Given the description of an element on the screen output the (x, y) to click on. 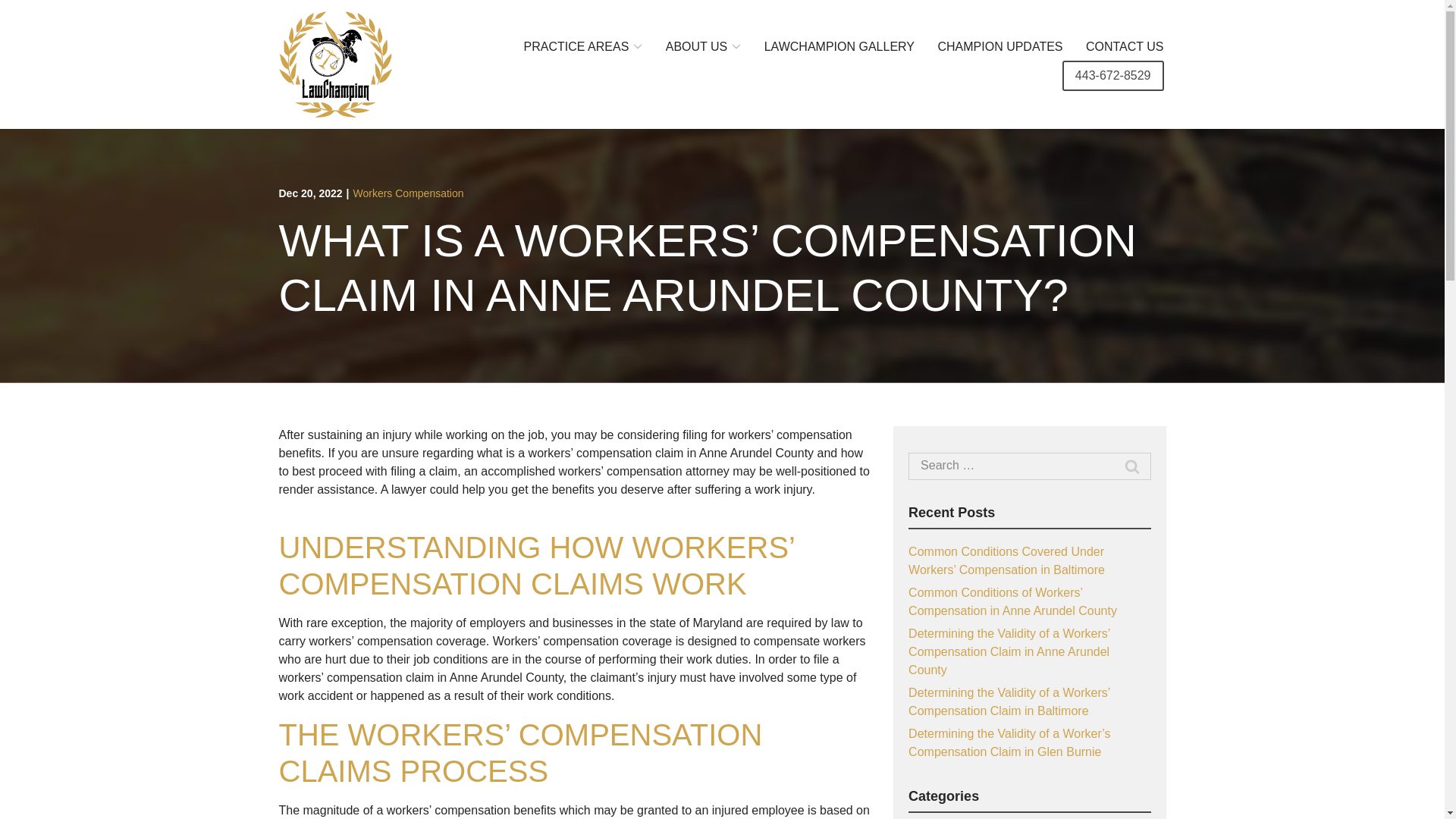
PRACTICE AREAS (583, 46)
ABOUT US (703, 46)
LAWCHAMPION GALLERY (839, 46)
CONTACT US (1124, 46)
443-672-8529 (1112, 75)
CHAMPION UPDATES (999, 46)
